Given the description of an element on the screen output the (x, y) to click on. 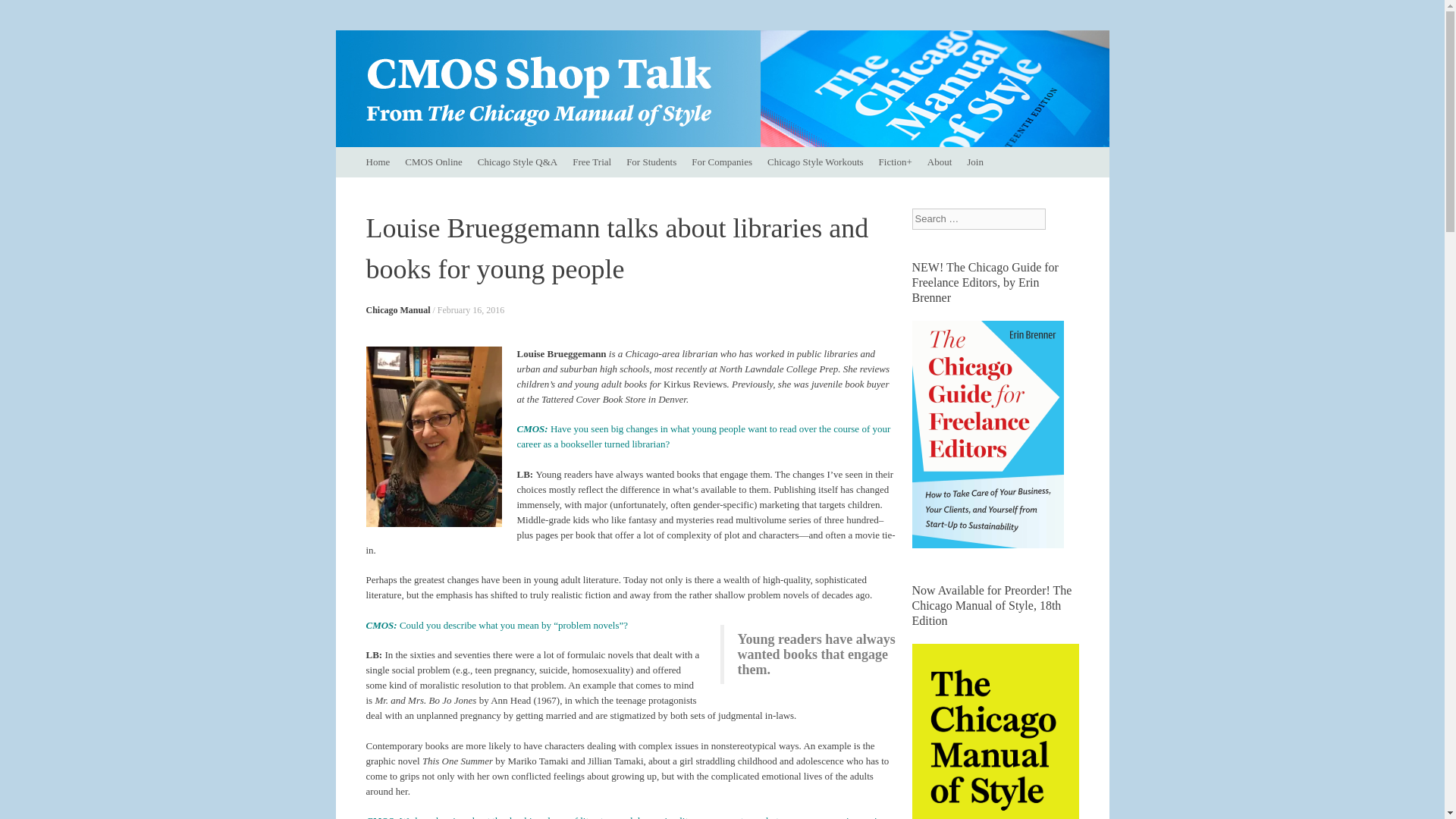
Skip to content (342, 154)
For Companies (722, 162)
Where Research Begins: An Amazon Best Seller! (994, 731)
About (939, 162)
Free Trial (591, 162)
Home (377, 162)
Join (975, 162)
Chicago Style Workouts (815, 162)
February 16, 2016 (470, 309)
CMOS Shop Talk (491, 80)
Search (23, 15)
For Students (651, 162)
Chicago Manual (397, 309)
CMOS Online (432, 162)
CMOS Shop Talk (491, 80)
